Given the description of an element on the screen output the (x, y) to click on. 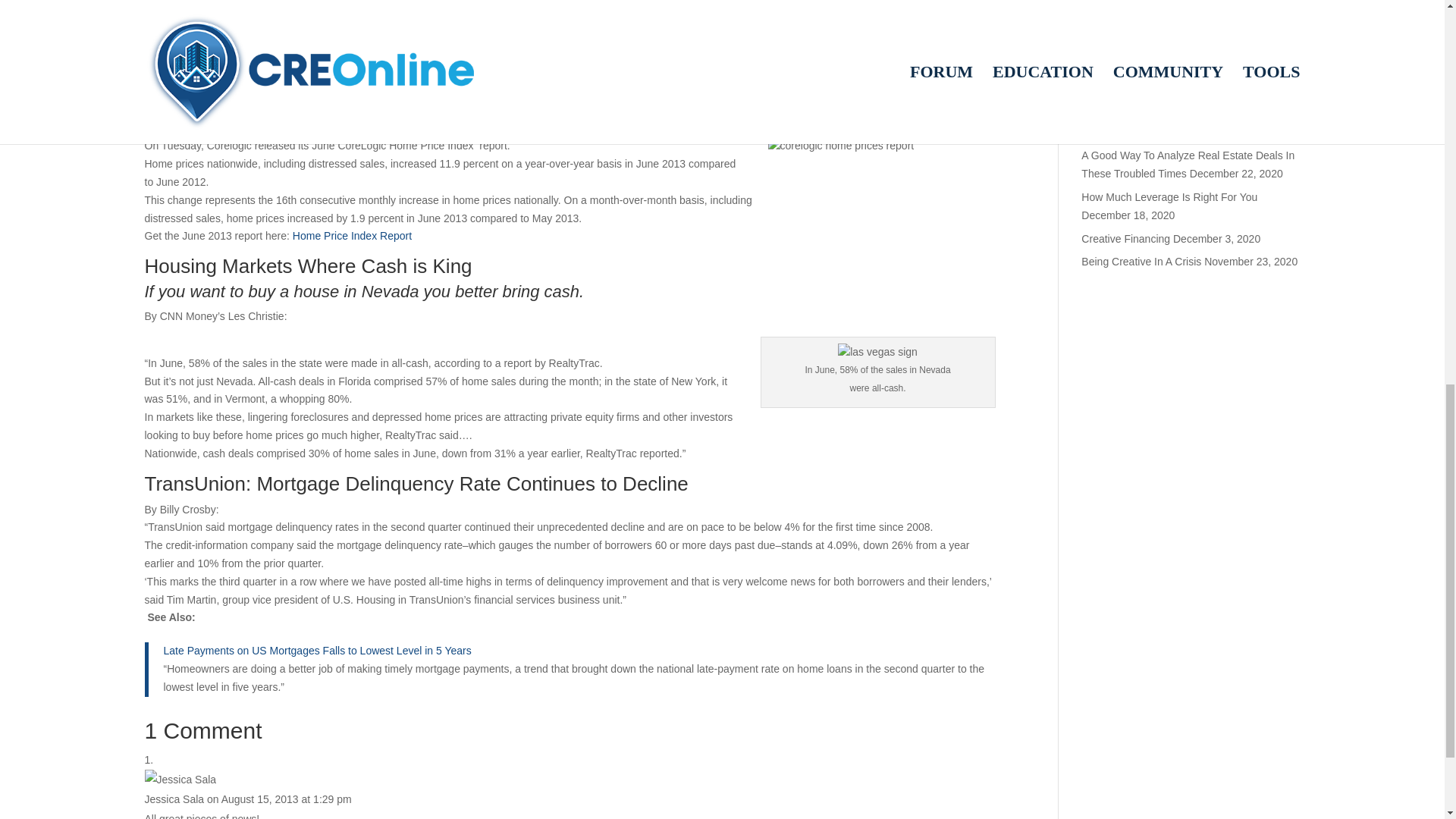
Creative Financing (1125, 238)
How Much Leverage Is Right For You (1169, 196)
las vegas sign (877, 352)
Home Price Index Report (352, 235)
corelogic home prices report (881, 173)
CoreLogic Reports June Home Prices Rise by 11.9 Percent (403, 99)
TransUnion: Mortgage Delinquency Rate Continues to Decline (415, 483)
Being Creative In A Crisis (1141, 261)
Housing Markets Where Cash is King (307, 265)
